Given the description of an element on the screen output the (x, y) to click on. 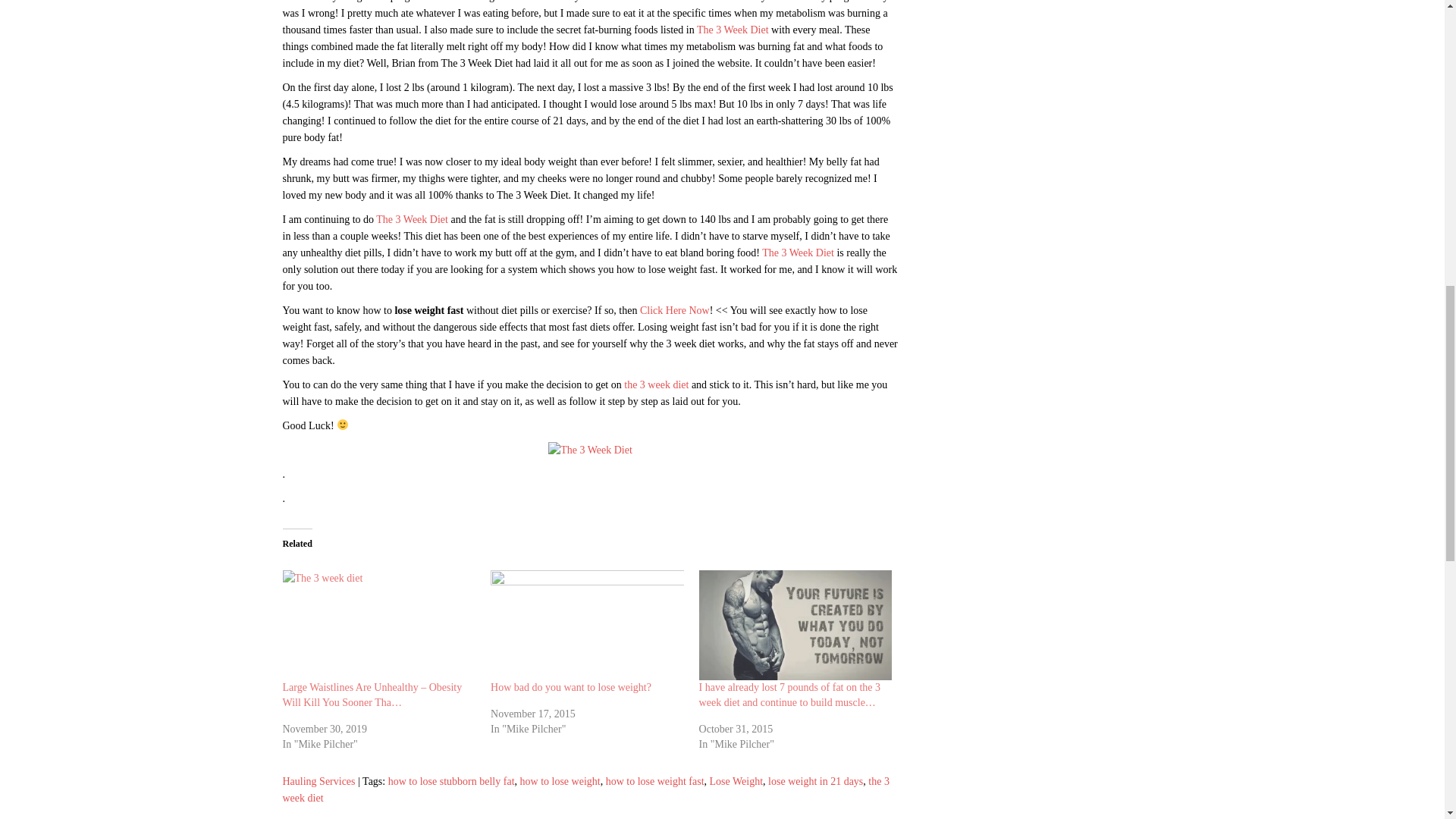
the 3 week diet (656, 384)
How bad do you want to lose weight? (570, 686)
Click Here Now (675, 310)
How bad do you want to lose weight? (570, 686)
The 3 Week Diet (411, 219)
The 3 Week Diet (732, 30)
Lose Weight (736, 781)
Hauling Services (318, 781)
How bad do you want to lose weight? (587, 625)
The 3 Week Diet (797, 252)
